Given the description of an element on the screen output the (x, y) to click on. 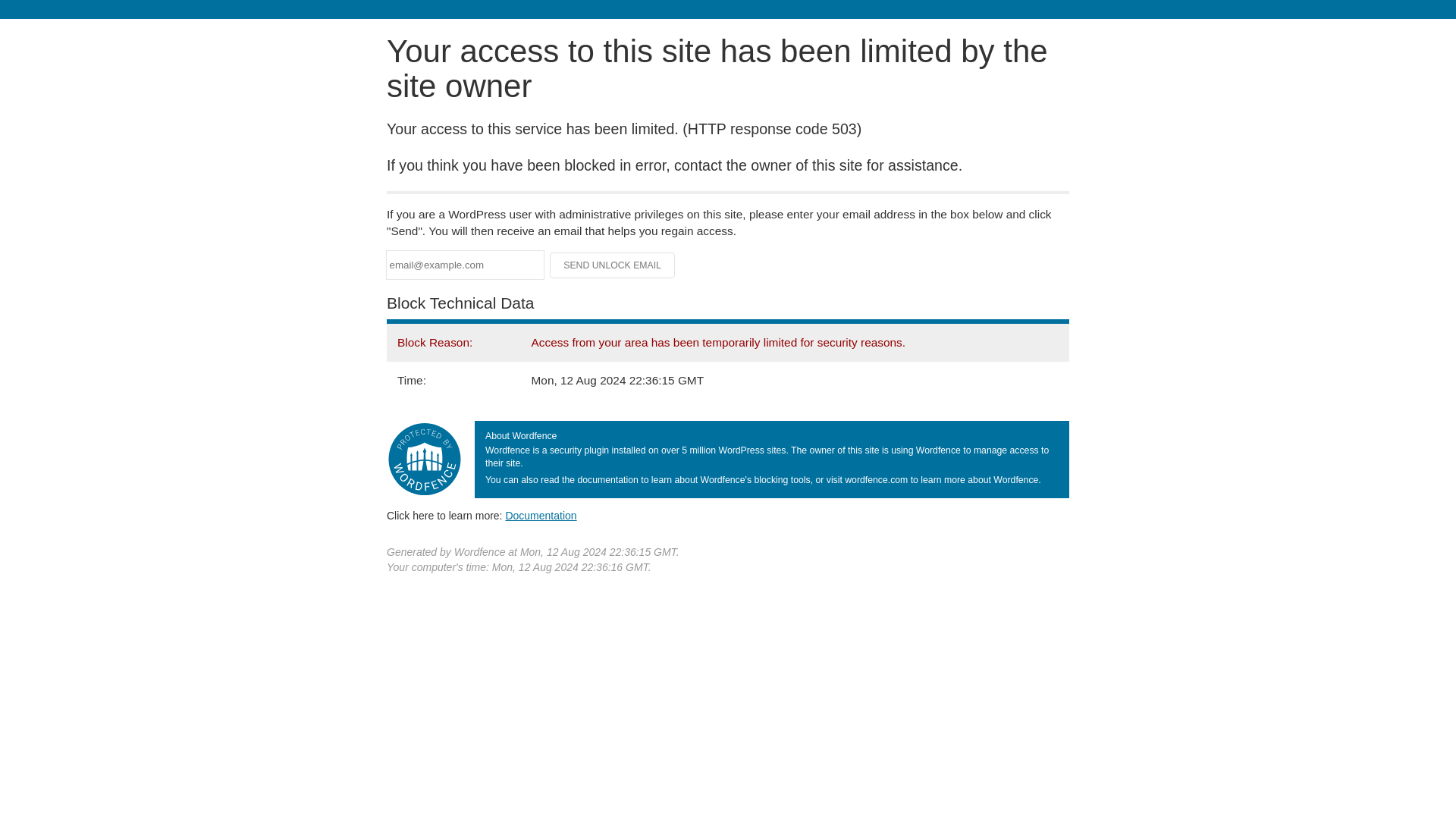
Send Unlock Email (612, 265)
Send Unlock Email (612, 265)
Documentation (540, 515)
